Given the description of an element on the screen output the (x, y) to click on. 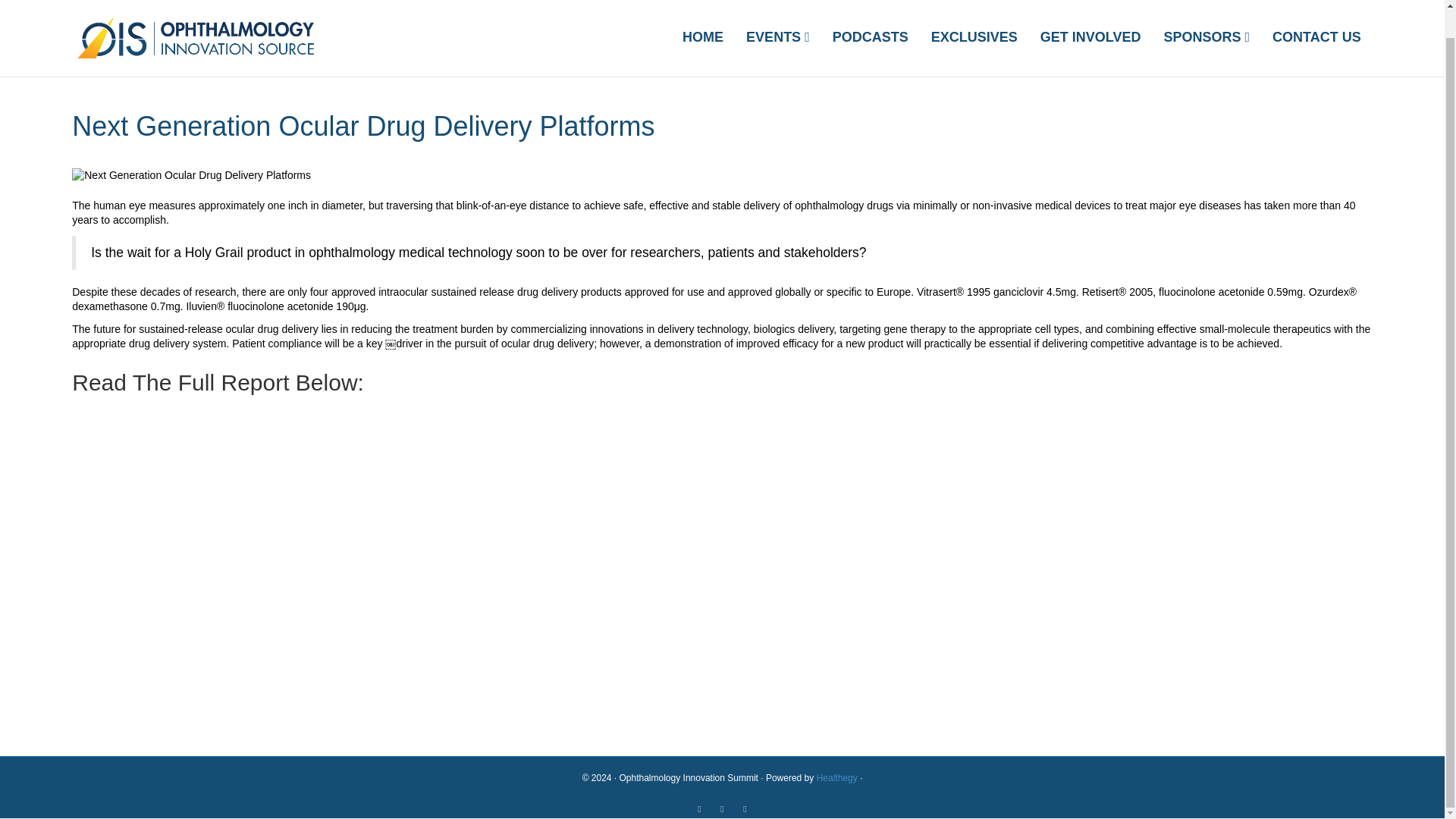
CONTACT US (1316, 36)
PODCASTS (870, 36)
HOME (703, 36)
SPONSORS (1205, 36)
GET INVOLVED (1091, 36)
Youtube (722, 809)
X-twitter (745, 809)
EVENTS (778, 36)
EXCLUSIVES (974, 36)
Healthegy (836, 777)
Linkedin (699, 809)
